Given the description of an element on the screen output the (x, y) to click on. 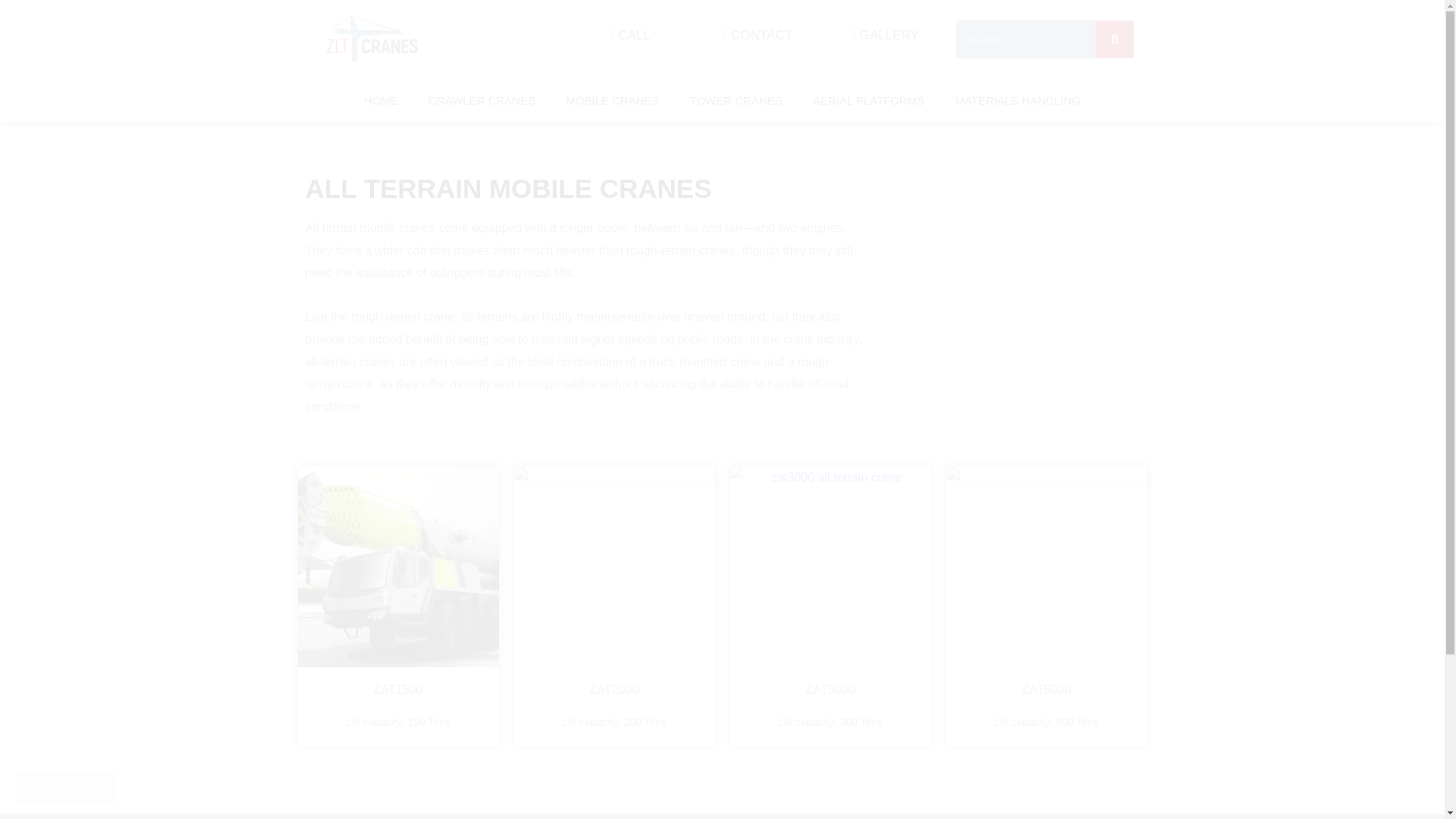
TOWER CRANES (736, 100)
Manage cookies (64, 787)
CONTACT (757, 34)
Search (1026, 39)
AERIAL PLATFORMS (868, 100)
CALL (629, 34)
MOBILE CRANES (612, 100)
HOME (381, 100)
GALLERY (884, 34)
CRAWLER CRANES (481, 100)
Search (1115, 39)
MATERIALS HANDLING (1017, 100)
